Given the description of an element on the screen output the (x, y) to click on. 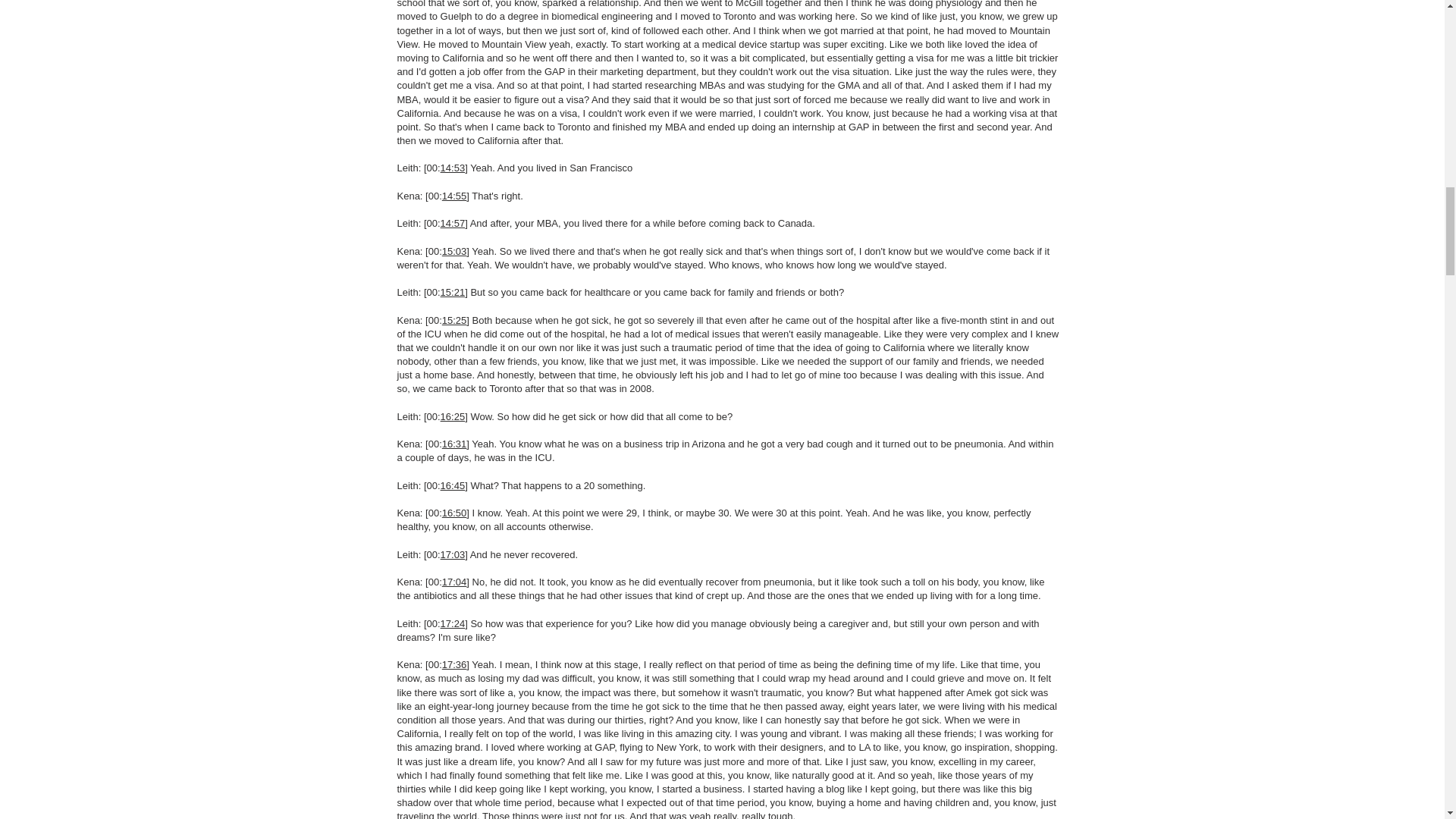
14:53 (453, 167)
16:25 (453, 416)
15:03 (454, 251)
17:04 (454, 582)
14:57 (453, 223)
16:45 (453, 485)
15:25 (454, 319)
16:31 (454, 443)
15:21 (453, 292)
16:50 (454, 512)
14:55 (454, 195)
17:03 (453, 554)
